Given the description of an element on the screen output the (x, y) to click on. 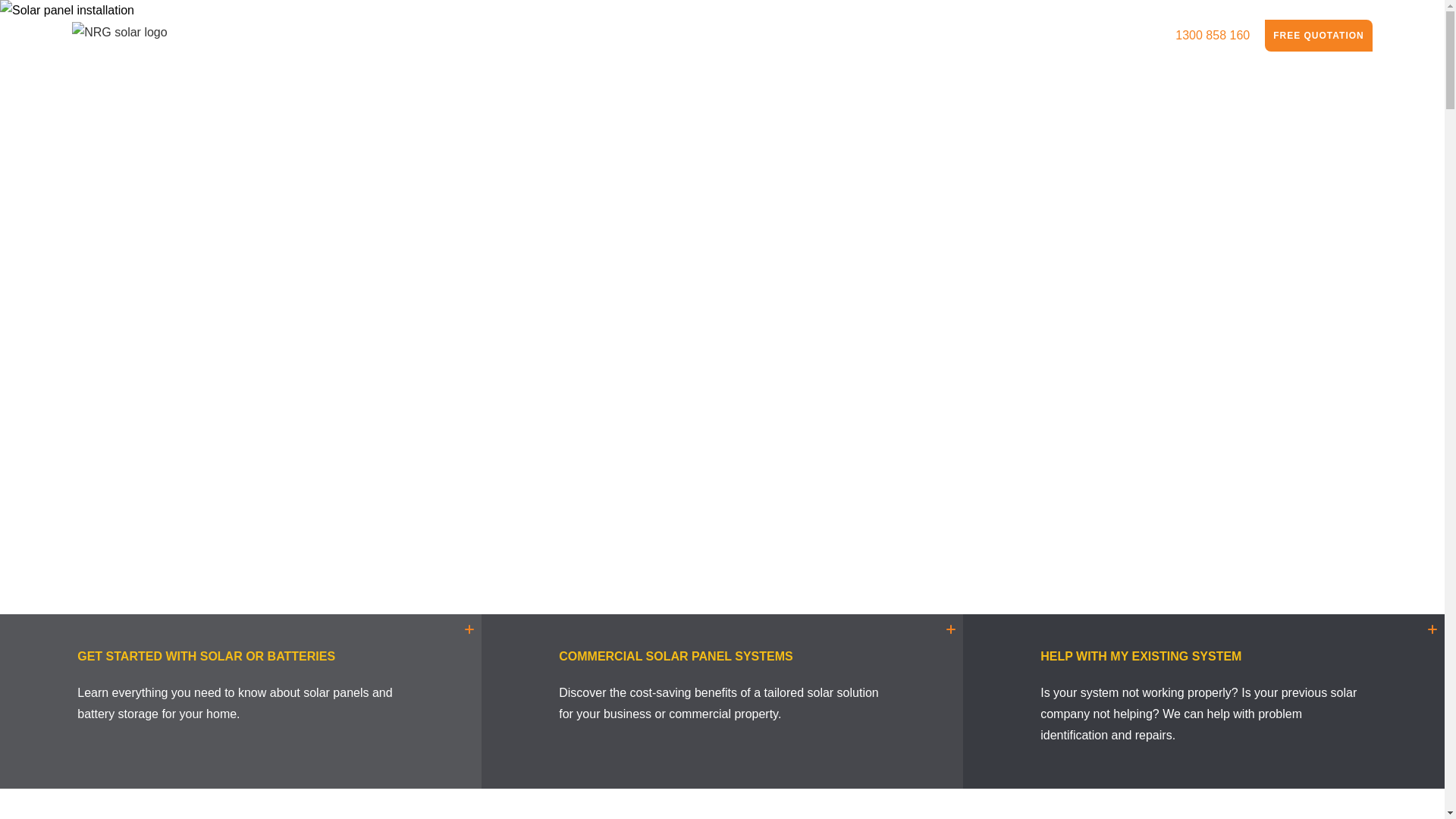
Battery Storage Element type: text (752, 35)
Commercial Element type: text (856, 35)
1300 858 160 Element type: text (1212, 35)
FREE QUOTATION Element type: text (1318, 35)
About Us Element type: text (1119, 35)
Our Team Element type: text (1038, 35)
Solar Element type: text (665, 35)
